Given the description of an element on the screen output the (x, y) to click on. 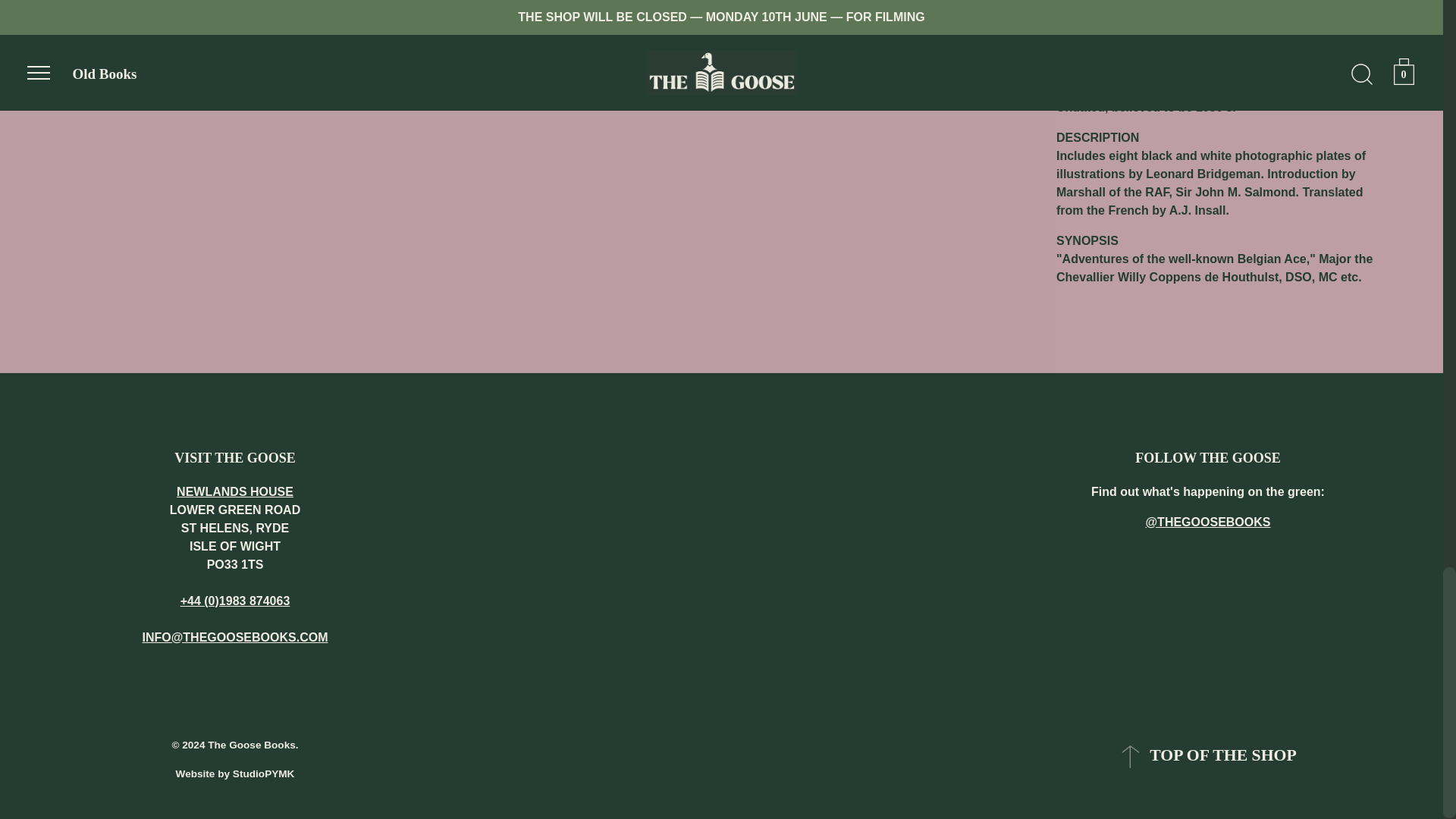
TOP OF THE SHOP (1207, 756)
StudioPYMK (263, 773)
The Goose Books (251, 745)
NEWLANDS HOUSE (235, 491)
